Given the description of an element on the screen output the (x, y) to click on. 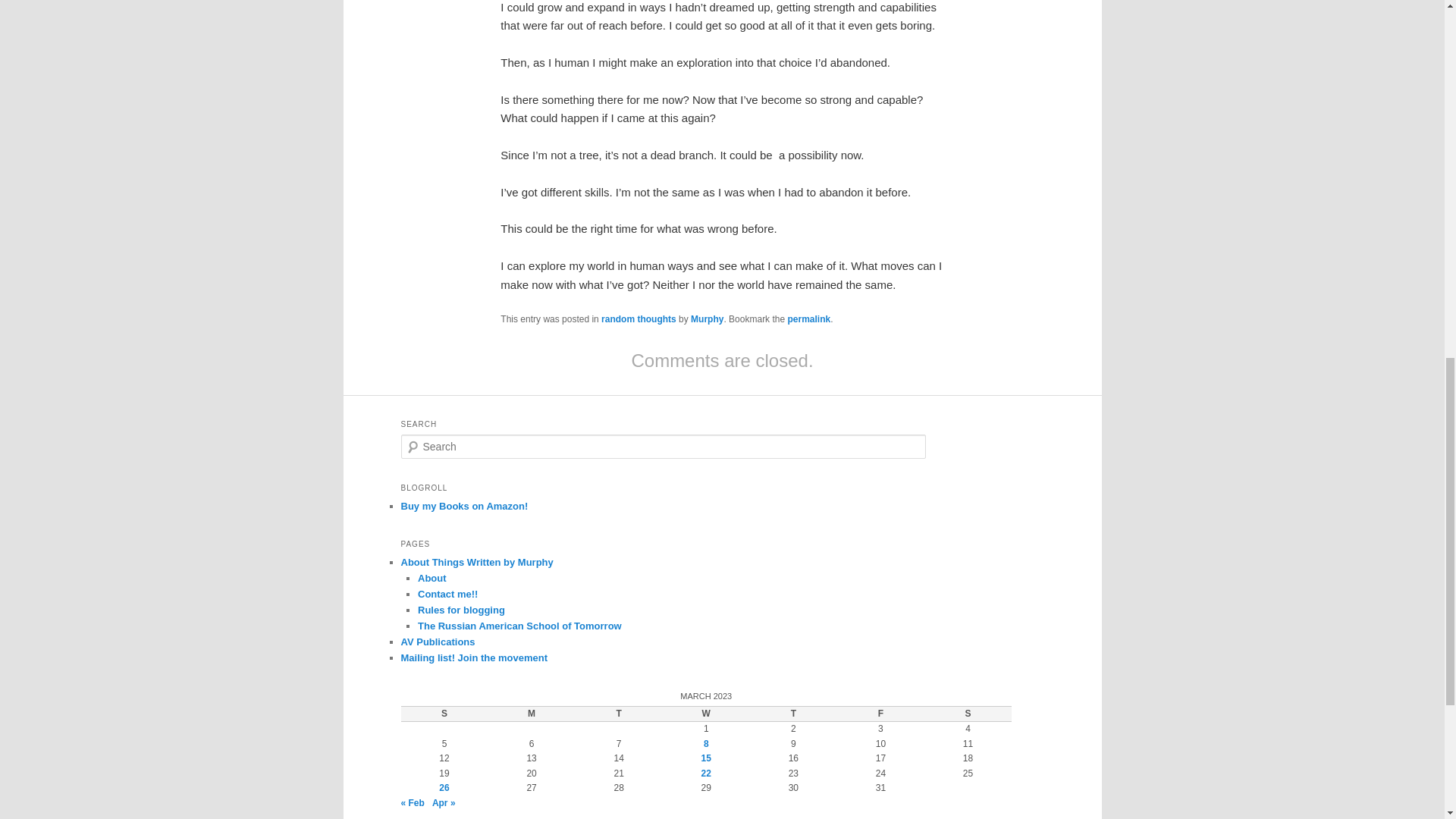
Permalink to niether remain the same (808, 318)
Contact me!! (447, 593)
15 (706, 757)
About Things Written by Murphy (476, 562)
Thursday (793, 713)
8 (706, 743)
Tuesday (618, 713)
Buy my Books on Amazon! (463, 505)
AV Publications (437, 641)
Wednesday (705, 713)
Saturday (967, 713)
Monday (531, 713)
The Russian American School of Tomorrow (519, 625)
About (431, 577)
random thoughts (639, 318)
